Given the description of an element on the screen output the (x, y) to click on. 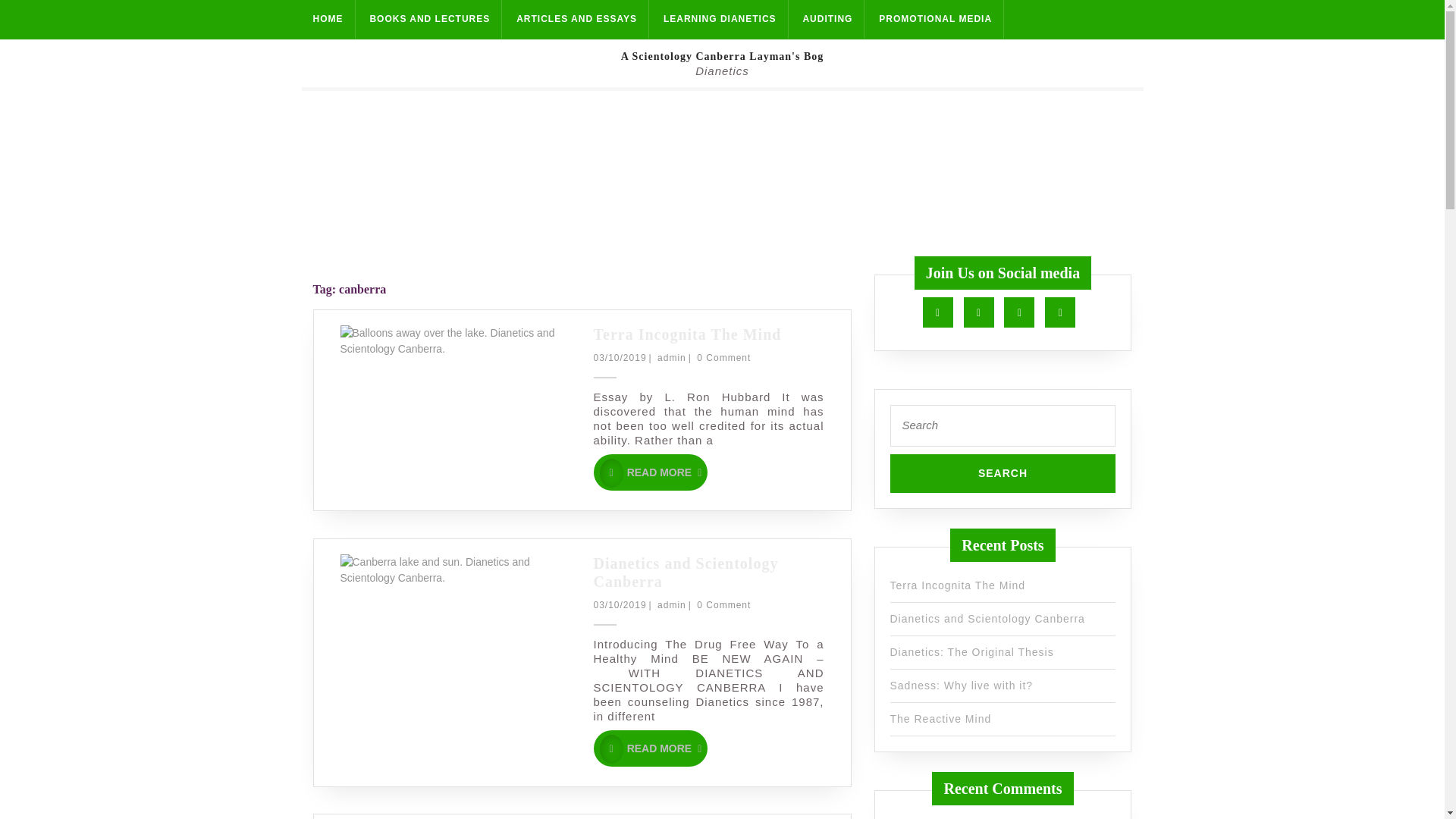
A Scientology Canberra Layman's Bog (722, 56)
Instagram (649, 472)
Youtube (1023, 312)
Search (1064, 312)
Dianetics: The Original Thesis (1002, 472)
PROMOTIONAL MEDIA (971, 652)
Twitter (935, 19)
Dianetics and Scientology Canberra (982, 312)
Search (986, 618)
AUDITING (1002, 472)
Facebook (827, 19)
HOME (941, 312)
ARTICLES AND ESSAYS (328, 19)
The Reactive Mind (577, 19)
